Given the description of an element on the screen output the (x, y) to click on. 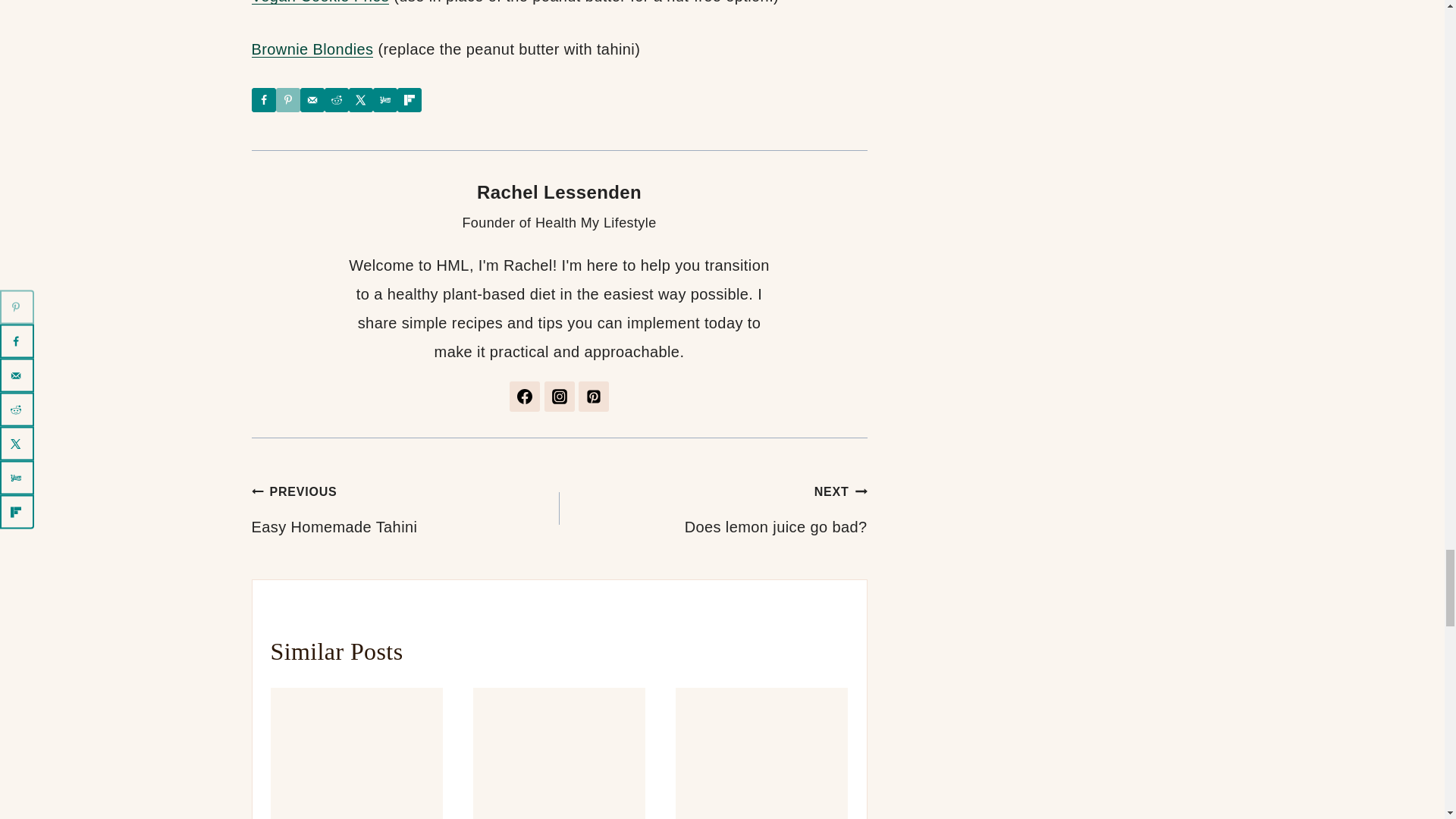
Share on X (360, 99)
Send over email (311, 99)
Share on Reddit (336, 99)
Save to Pinterest (287, 99)
Share on Flipboard (409, 99)
Follow Rachel Lessenden on Facebook (524, 396)
Share on Facebook (263, 99)
Share on Yummly (384, 99)
Follow Rachel Lessenden on Pinterest (593, 396)
Follow Rachel Lessenden on Instagram (559, 396)
